Given the description of an element on the screen output the (x, y) to click on. 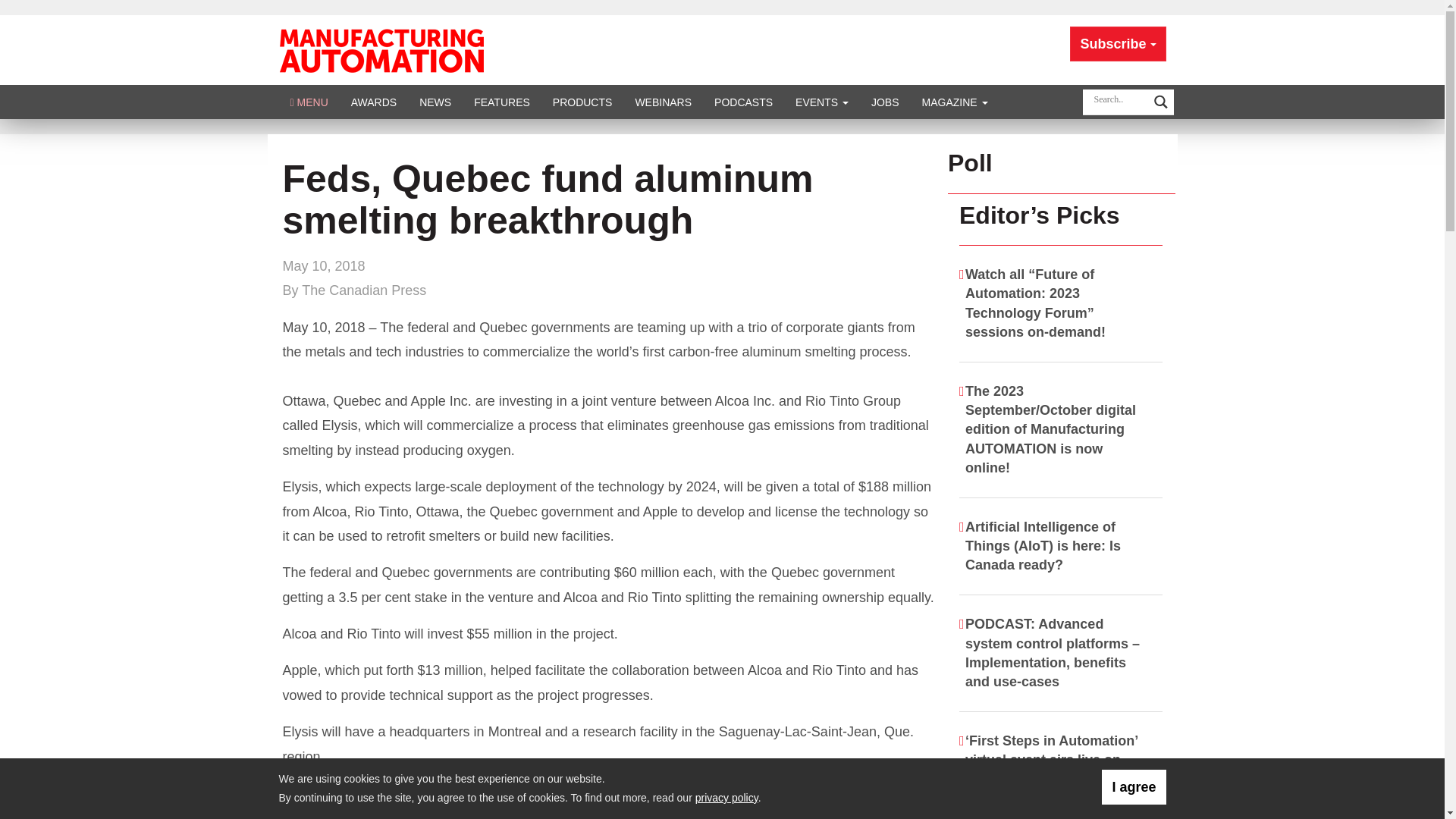
Subscribe (1118, 43)
Click to show site navigation (309, 101)
MENU (309, 101)
Manufacturing AUTOMATION (381, 48)
JOBS (885, 101)
FEATURES (502, 101)
NEWS (435, 101)
WEBINARS (663, 101)
EVENTS (822, 101)
PODCASTS (743, 101)
